Given the description of an element on the screen output the (x, y) to click on. 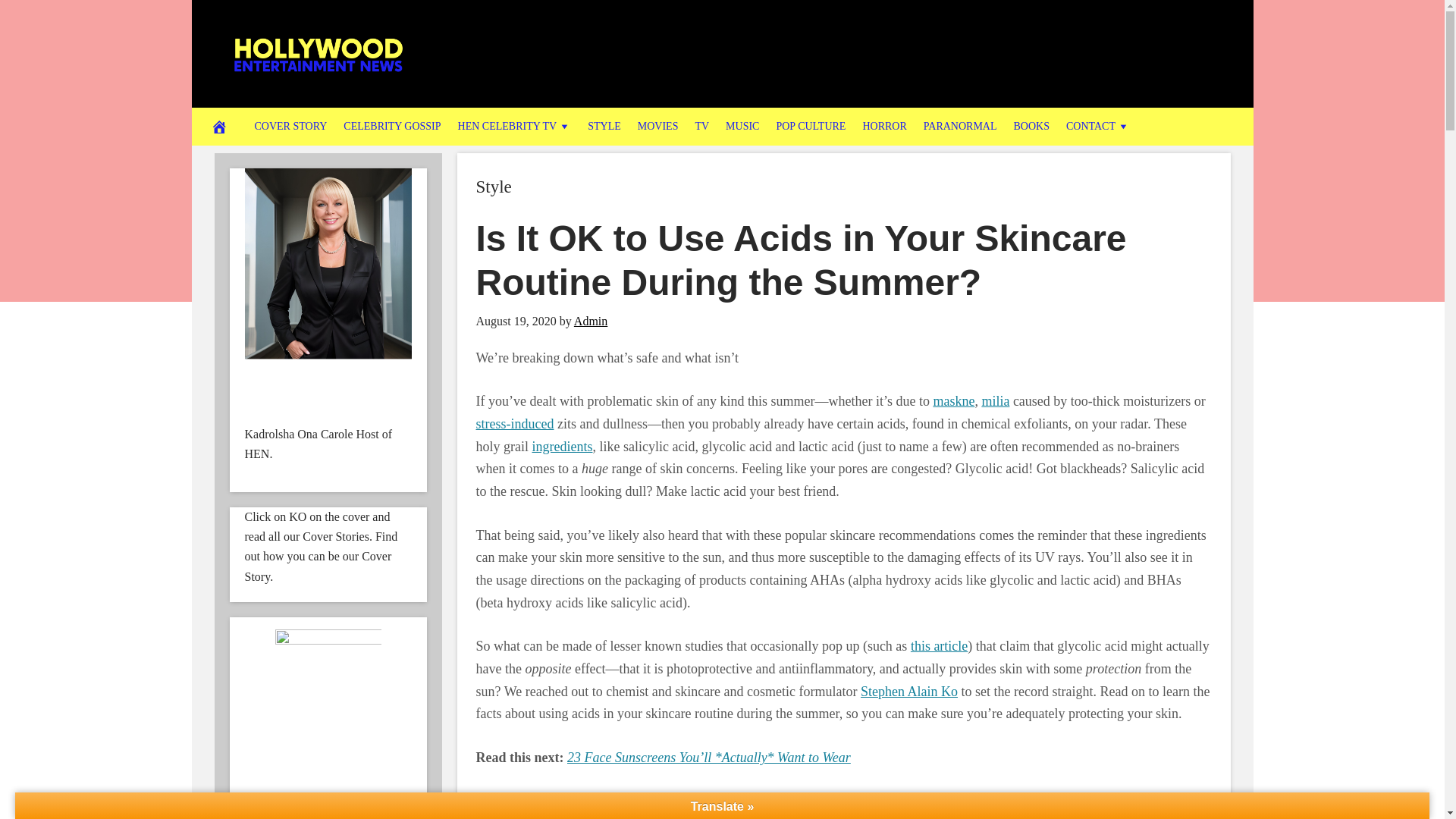
CELEBRITY GOSSIP (391, 126)
COVER STORY (290, 126)
Style (494, 186)
STYLE (603, 126)
HEN CELEBRITY TV (514, 126)
